Given the description of an element on the screen output the (x, y) to click on. 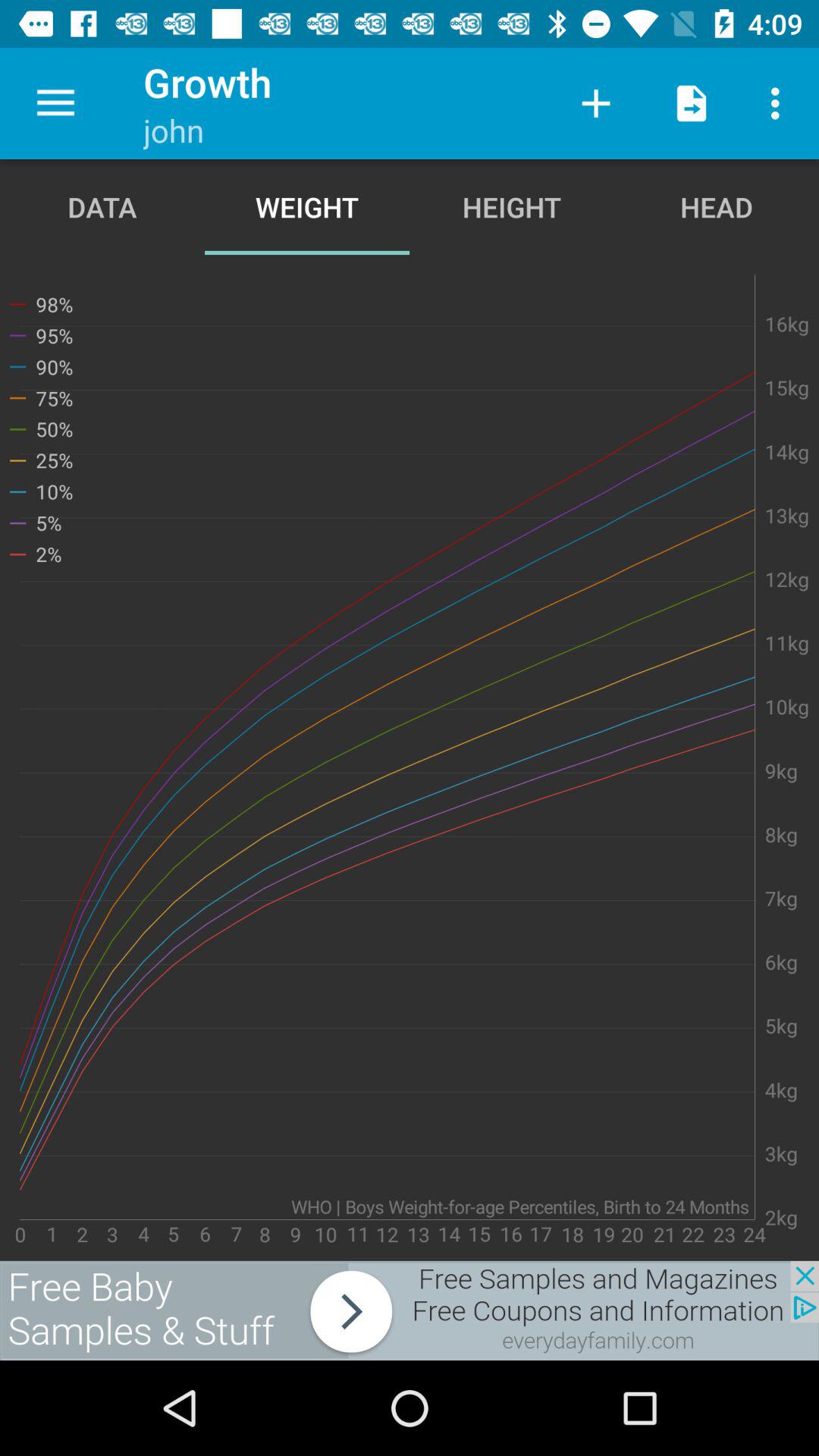
advertisement (409, 1310)
